Given the description of an element on the screen output the (x, y) to click on. 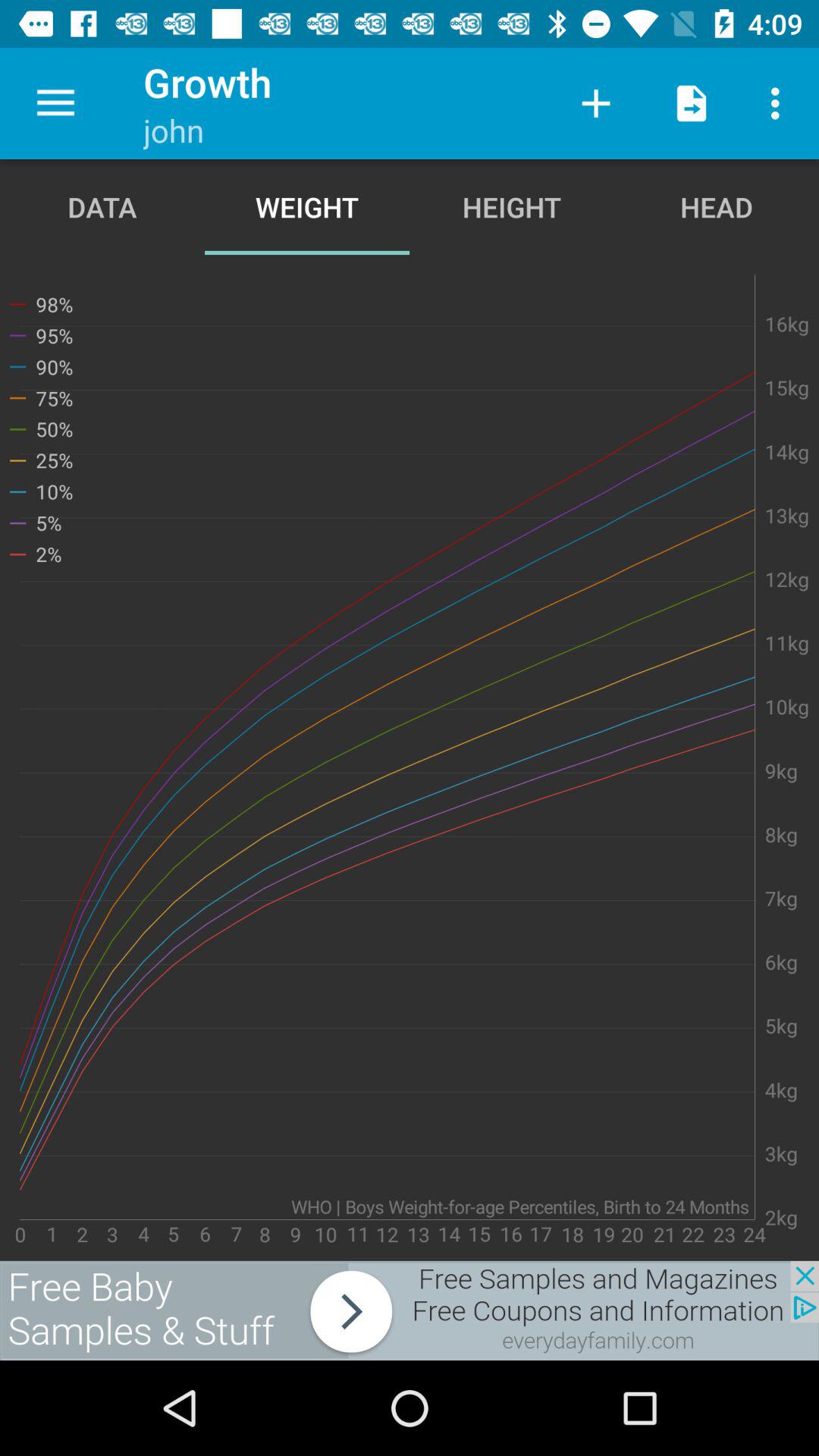
advertisement (409, 1310)
